Given the description of an element on the screen output the (x, y) to click on. 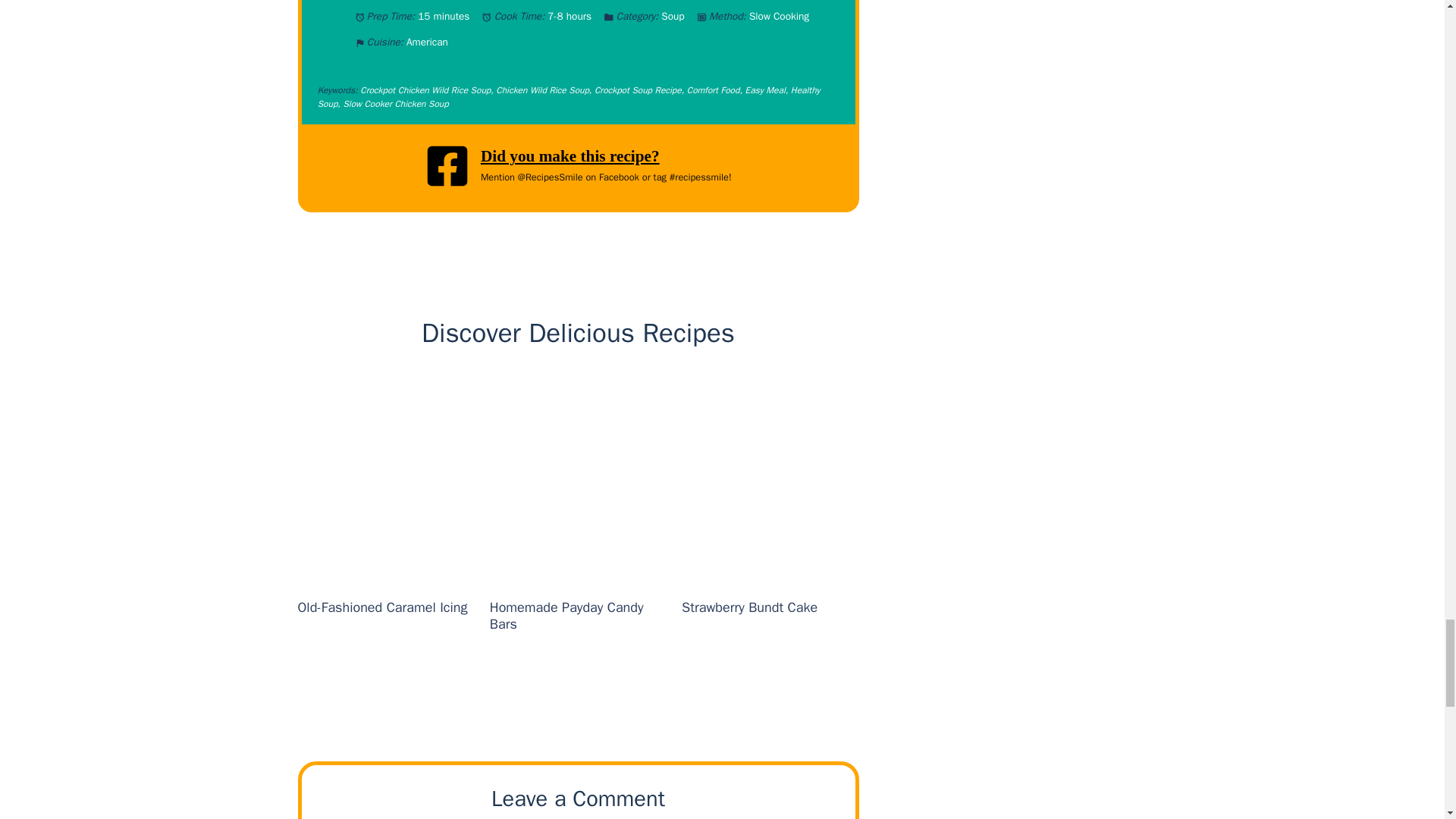
Old-Fashioned Caramel Icing (382, 606)
Homemade Payday Candy Bars (566, 615)
Strawberry Bundt Cake (748, 606)
